Given the description of an element on the screen output the (x, y) to click on. 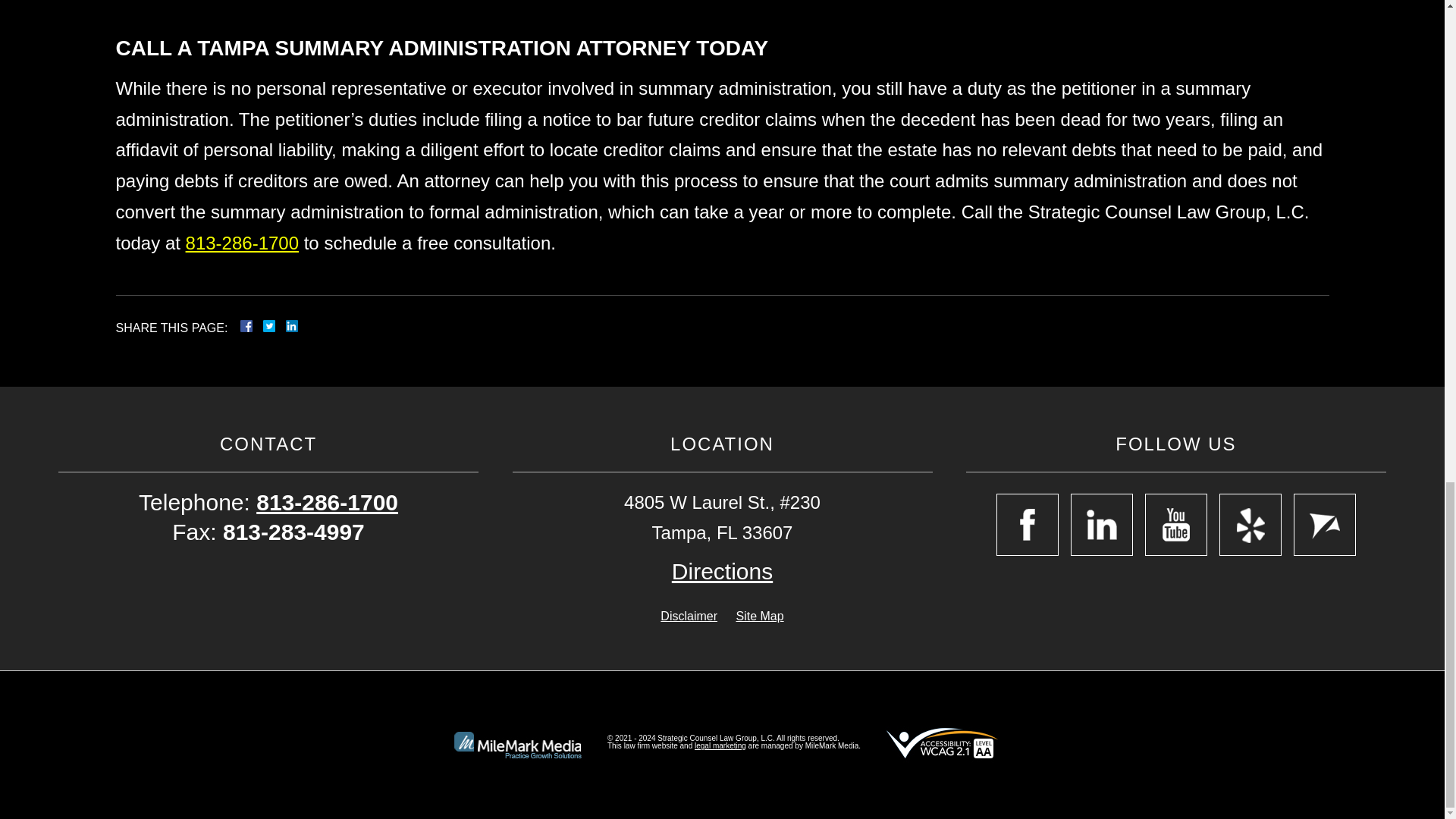
Open MileMarkMedia.com in a New Window (719, 746)
Open Yelp in a New Window (1250, 524)
Open Youtube in a New Window (1175, 524)
Facebook (264, 326)
Twitter (274, 326)
Open Google Map in a New Window (722, 571)
Open Avvo in a New Window (1324, 524)
Open Linkedin in a New Window (1101, 524)
Open Facebook in a New Window (1026, 524)
LinkedIn (286, 326)
